Given the description of an element on the screen output the (x, y) to click on. 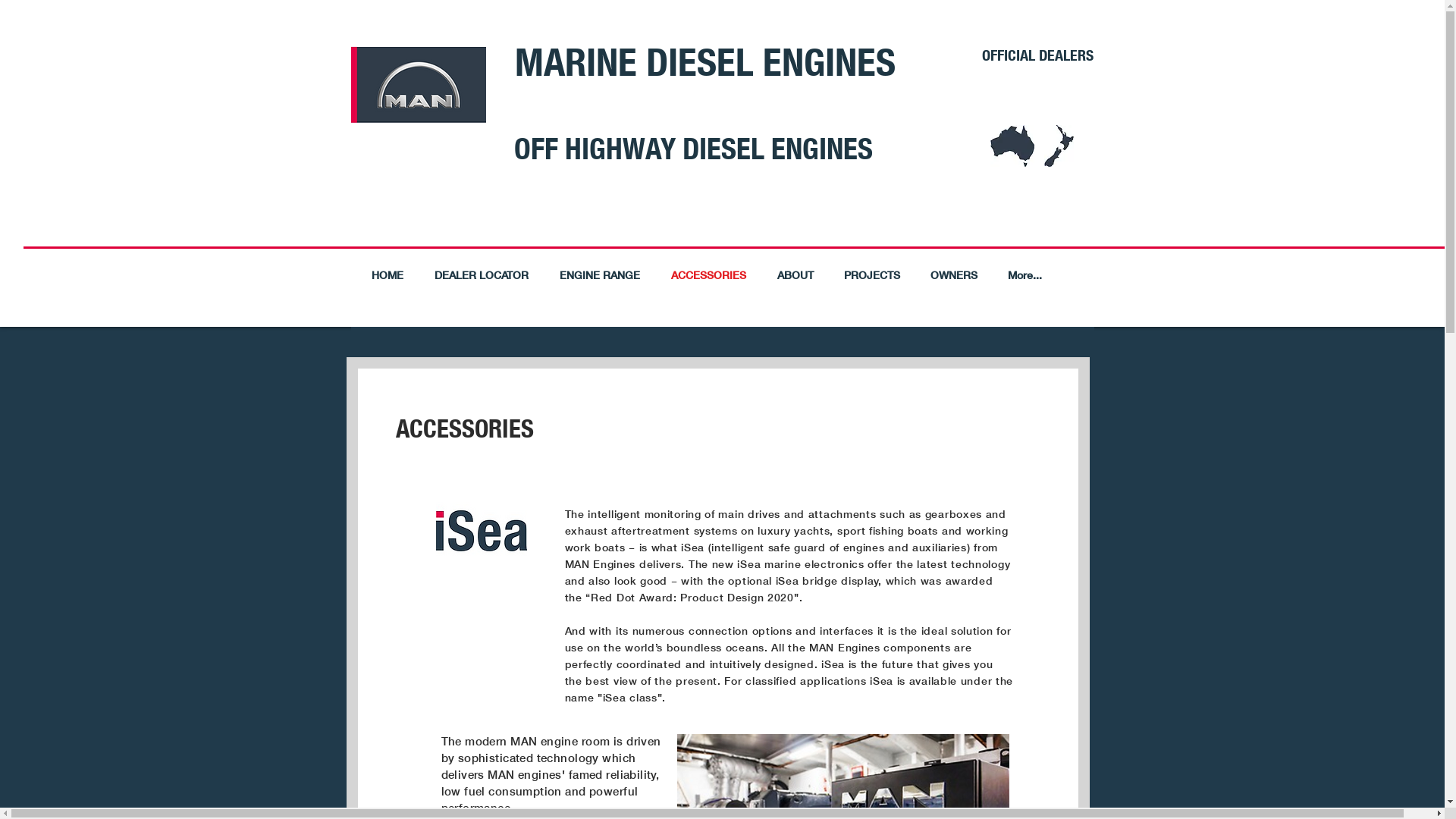
PROJECTS Element type: text (871, 274)
DEALER LOCATOR Element type: text (480, 274)
ABOUT Element type: text (794, 274)
OWNERS Element type: text (952, 274)
OFFICIAL DEALERS Element type: text (1036, 54)
ACCESSORIES Element type: text (708, 274)
ENGINE RANGE Element type: text (599, 274)
MARINE DIESEL ENGINES Element type: text (704, 60)
OFF HIGHWAY DIESEL ENGINES Element type: text (693, 148)
HOME Element type: text (387, 274)
au anthracite.jpg Element type: hover (1012, 145)
